Given the description of an element on the screen output the (x, y) to click on. 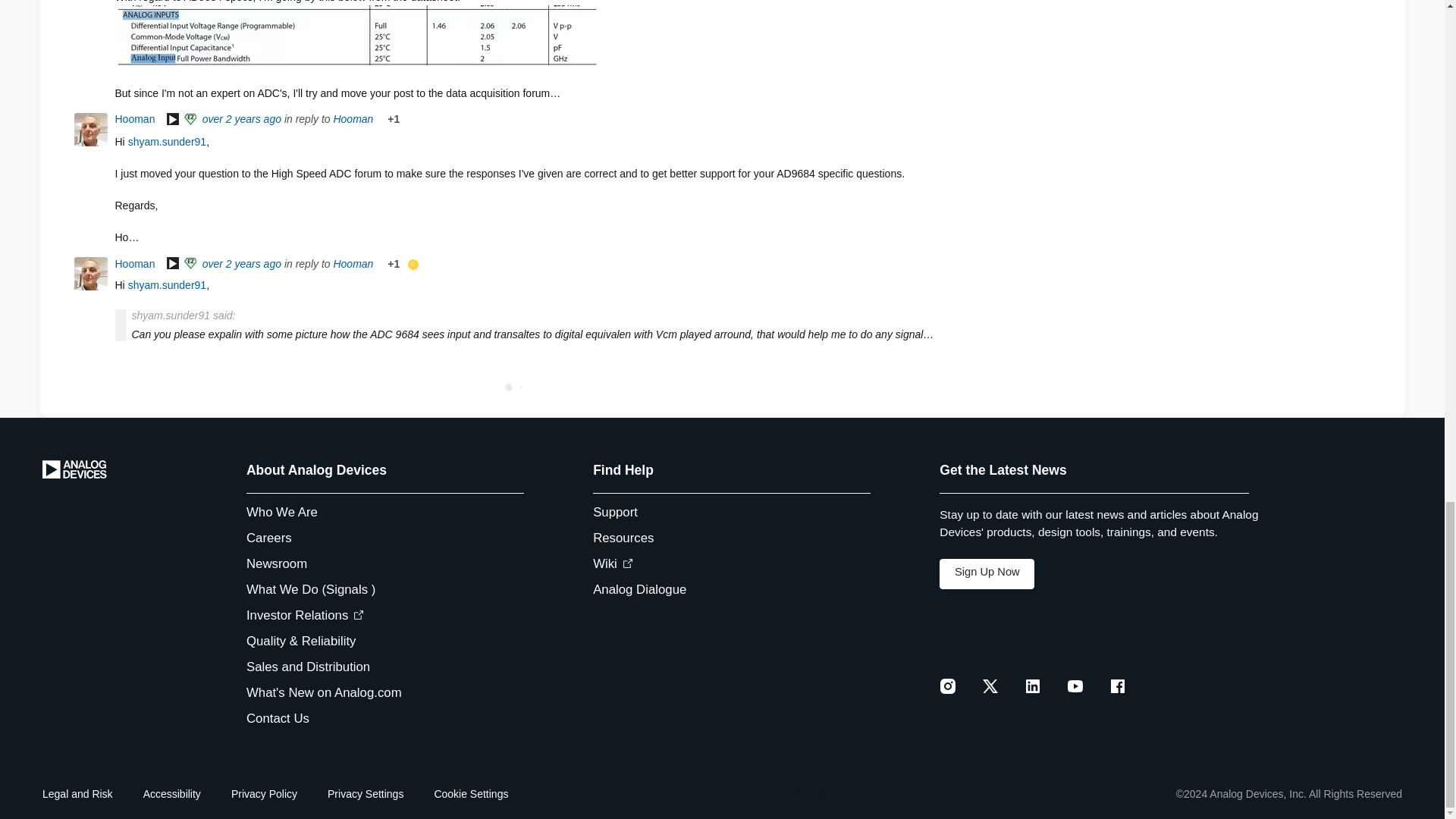
Super User (191, 120)
Analog Employees (172, 264)
Analog Employees (172, 120)
Super User (191, 264)
